Given the description of an element on the screen output the (x, y) to click on. 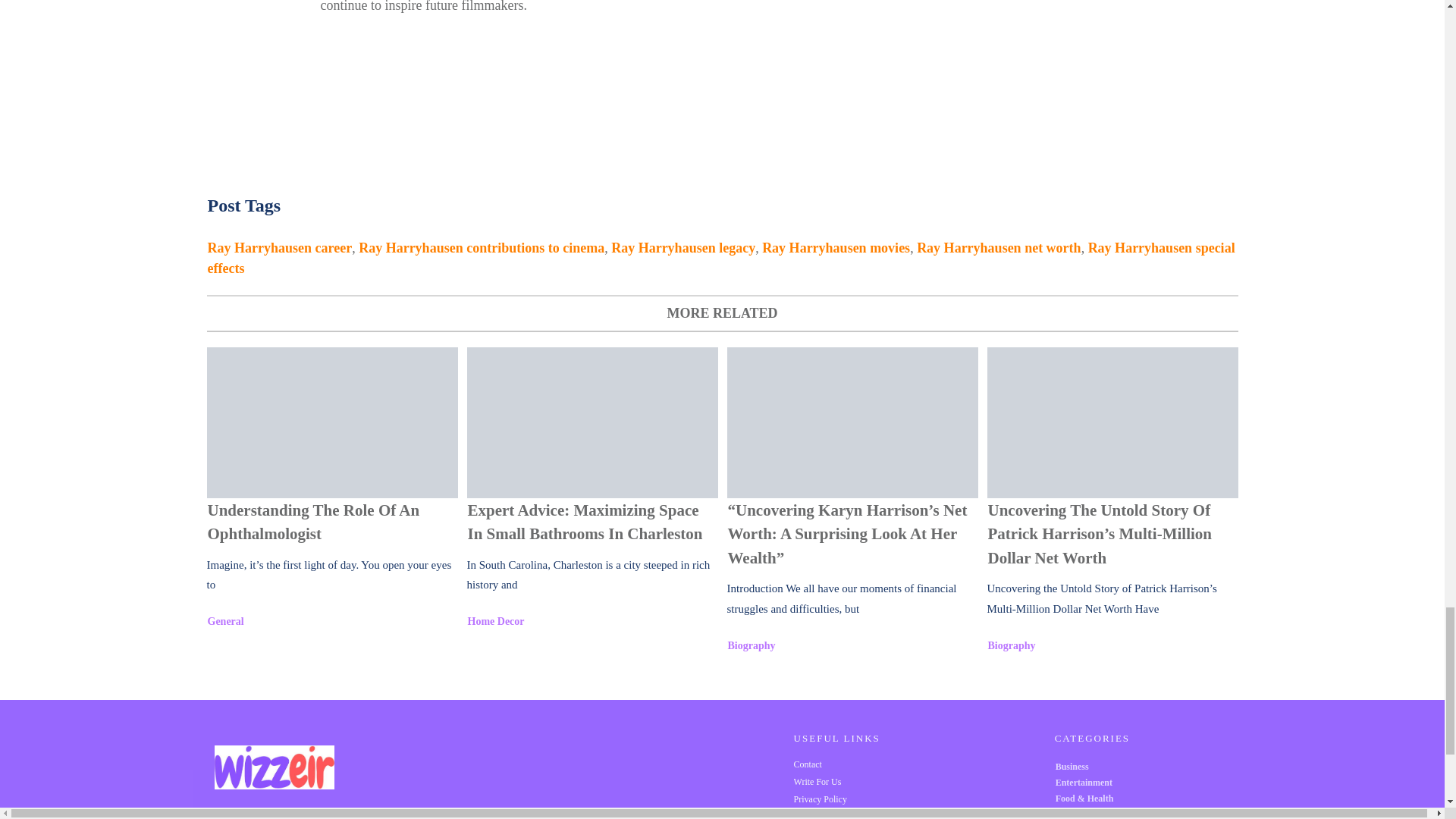
Ray Harryhausen net worth (999, 247)
Ray Harryhausen contributions to cinema (481, 247)
Ray Harryhausen movies (835, 247)
Ray Harryhausen legacy (683, 247)
Home Decor (495, 621)
Ray Harryhausen career (280, 247)
General (226, 621)
Ray Harryhausen special effects (721, 258)
Understanding the Role of an Ophthalmologist (331, 422)
